Given the description of an element on the screen output the (x, y) to click on. 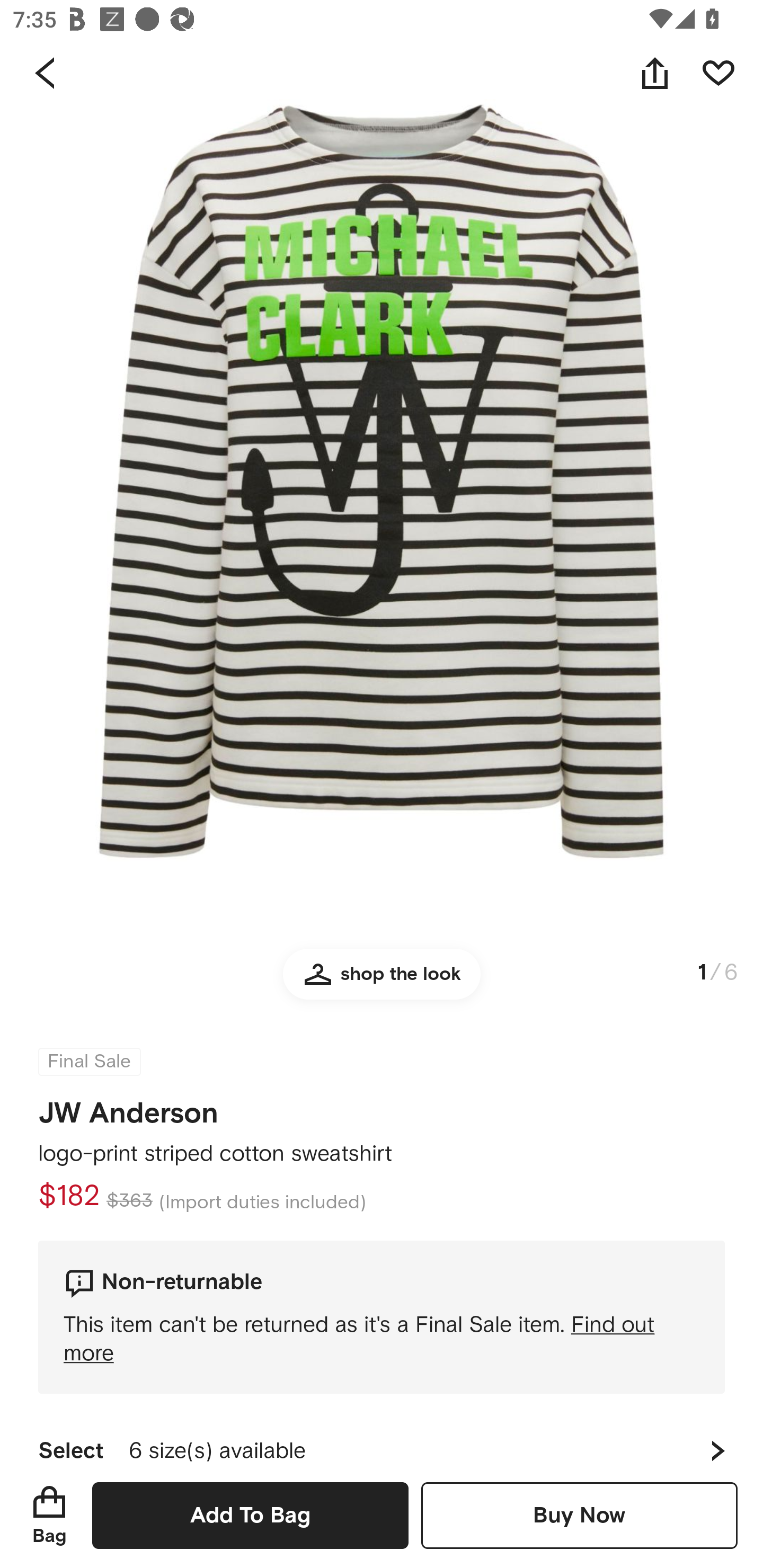
shop the look (381, 982)
JW Anderson (128, 1107)
Select 6 size(s) available (381, 1437)
Bag (49, 1515)
Add To Bag (250, 1515)
Buy Now (579, 1515)
